Given the description of an element on the screen output the (x, y) to click on. 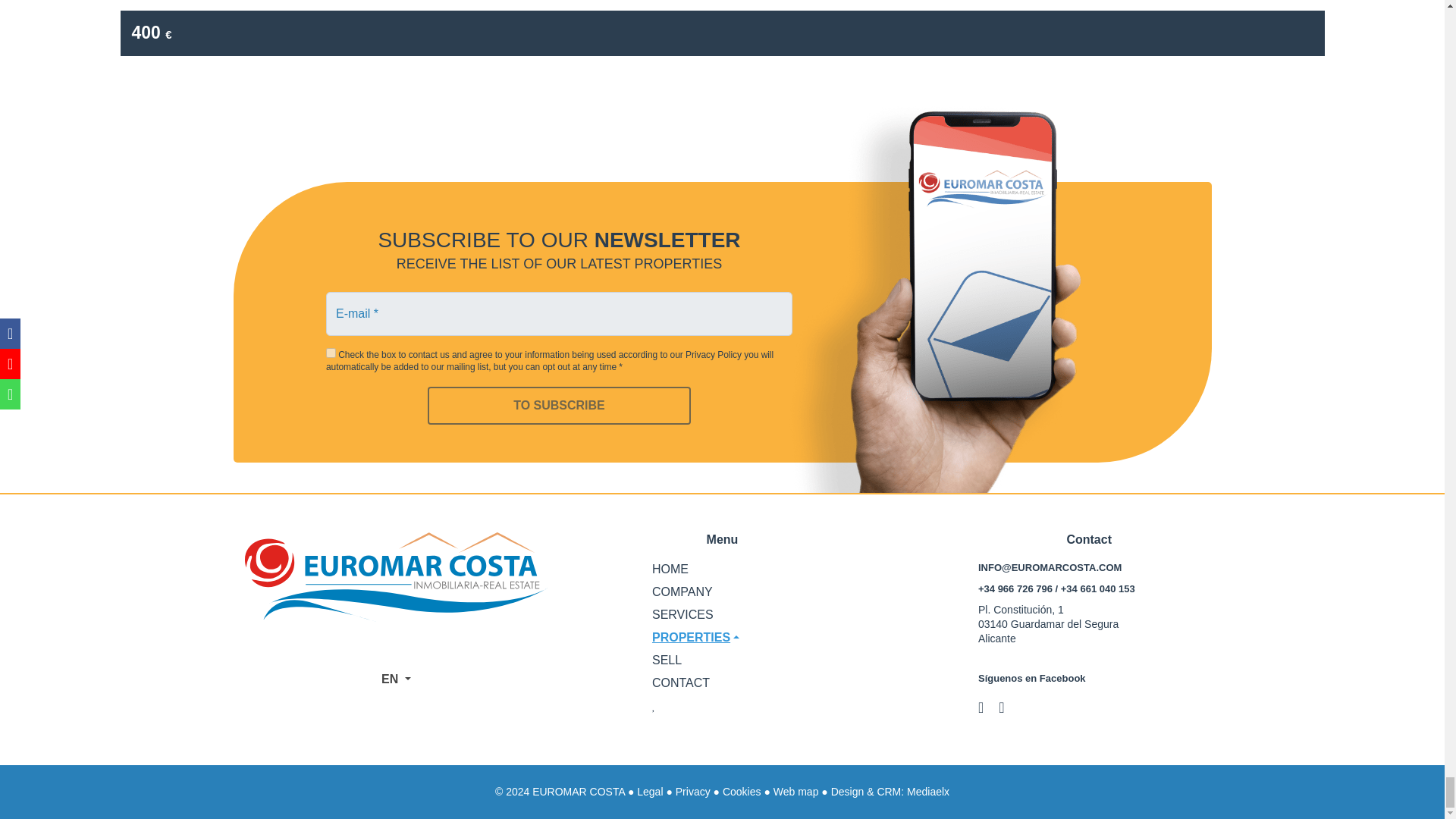
on (331, 352)
